Given the description of an element on the screen output the (x, y) to click on. 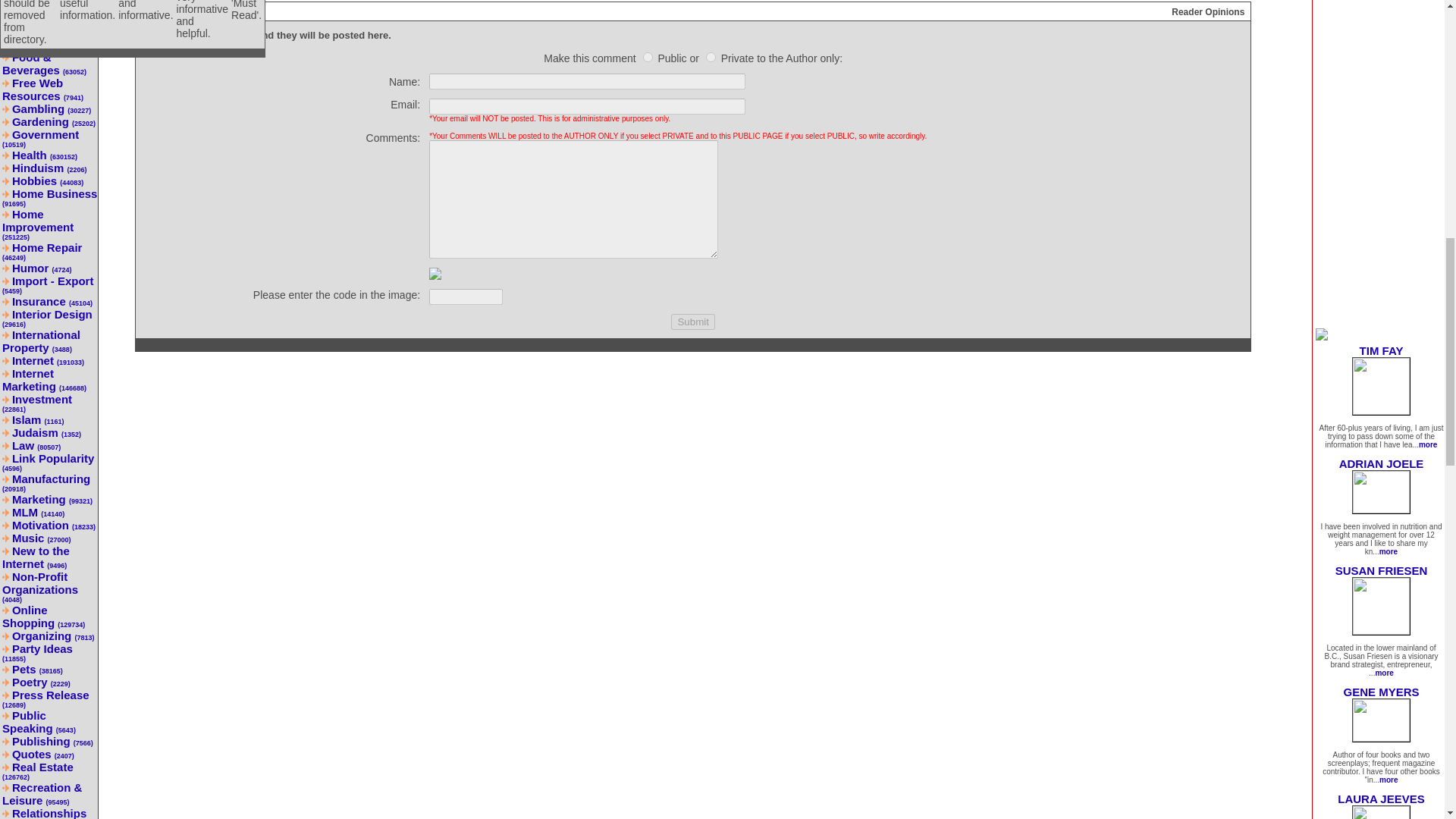
Private (711, 57)
Submit (692, 321)
Public (647, 57)
